Given the description of an element on the screen output the (x, y) to click on. 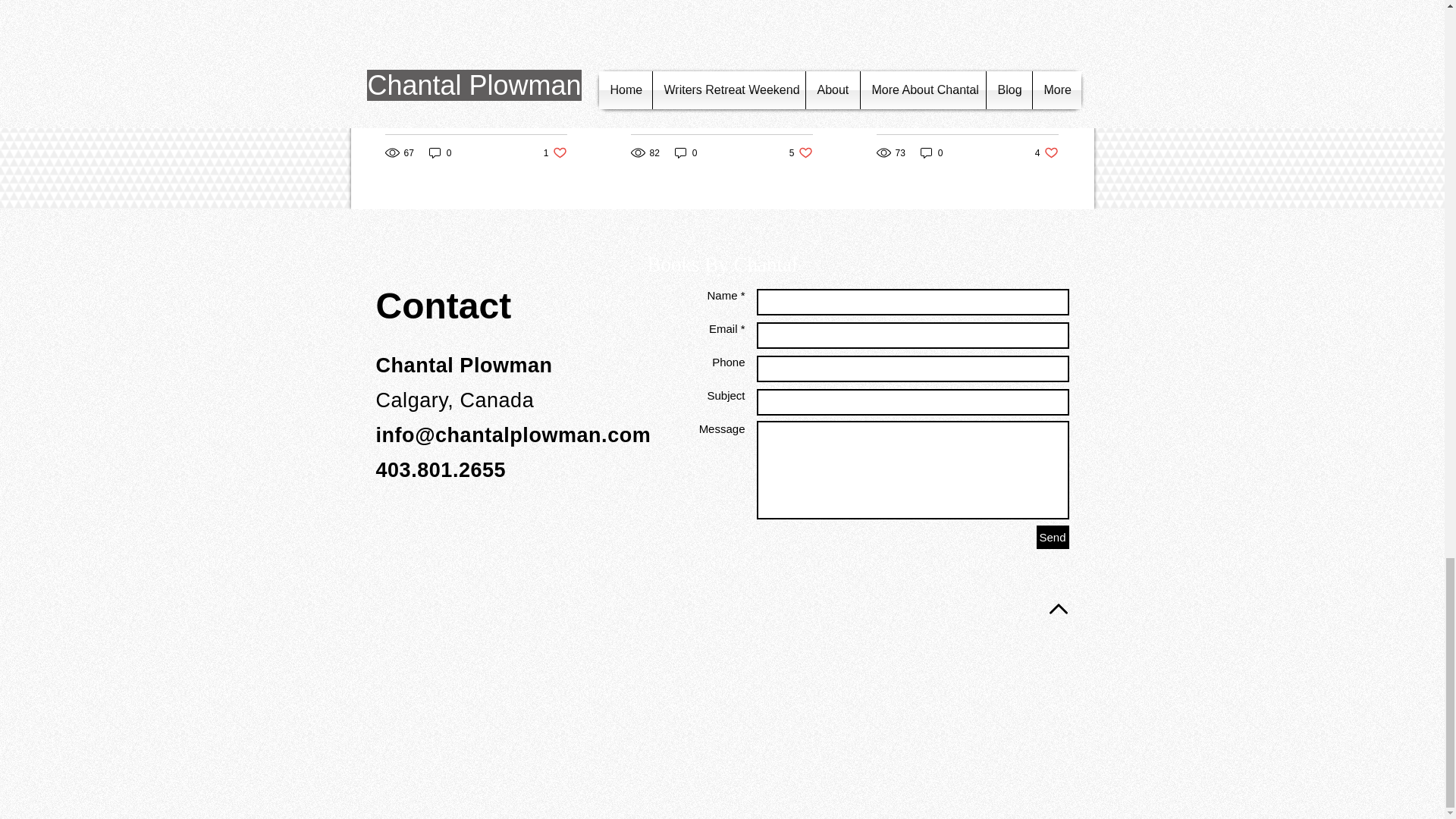
2021 - A Happy New Year!?! (800, 152)
0 (721, 91)
0 (685, 152)
0 (440, 152)
Covid Christmas Present (931, 152)
